Given the description of an element on the screen output the (x, y) to click on. 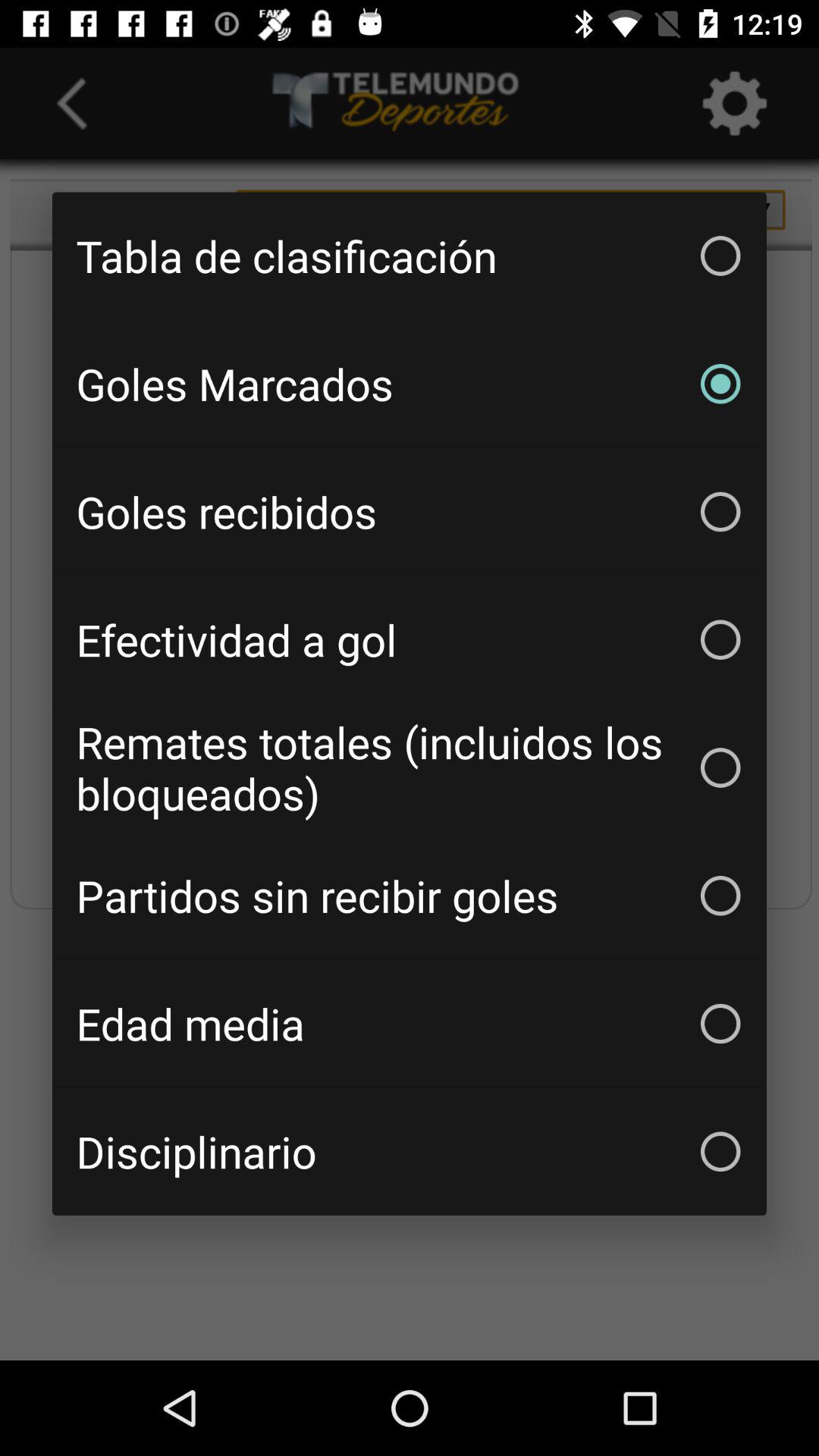
jump to the goles marcados item (409, 383)
